Given the description of an element on the screen output the (x, y) to click on. 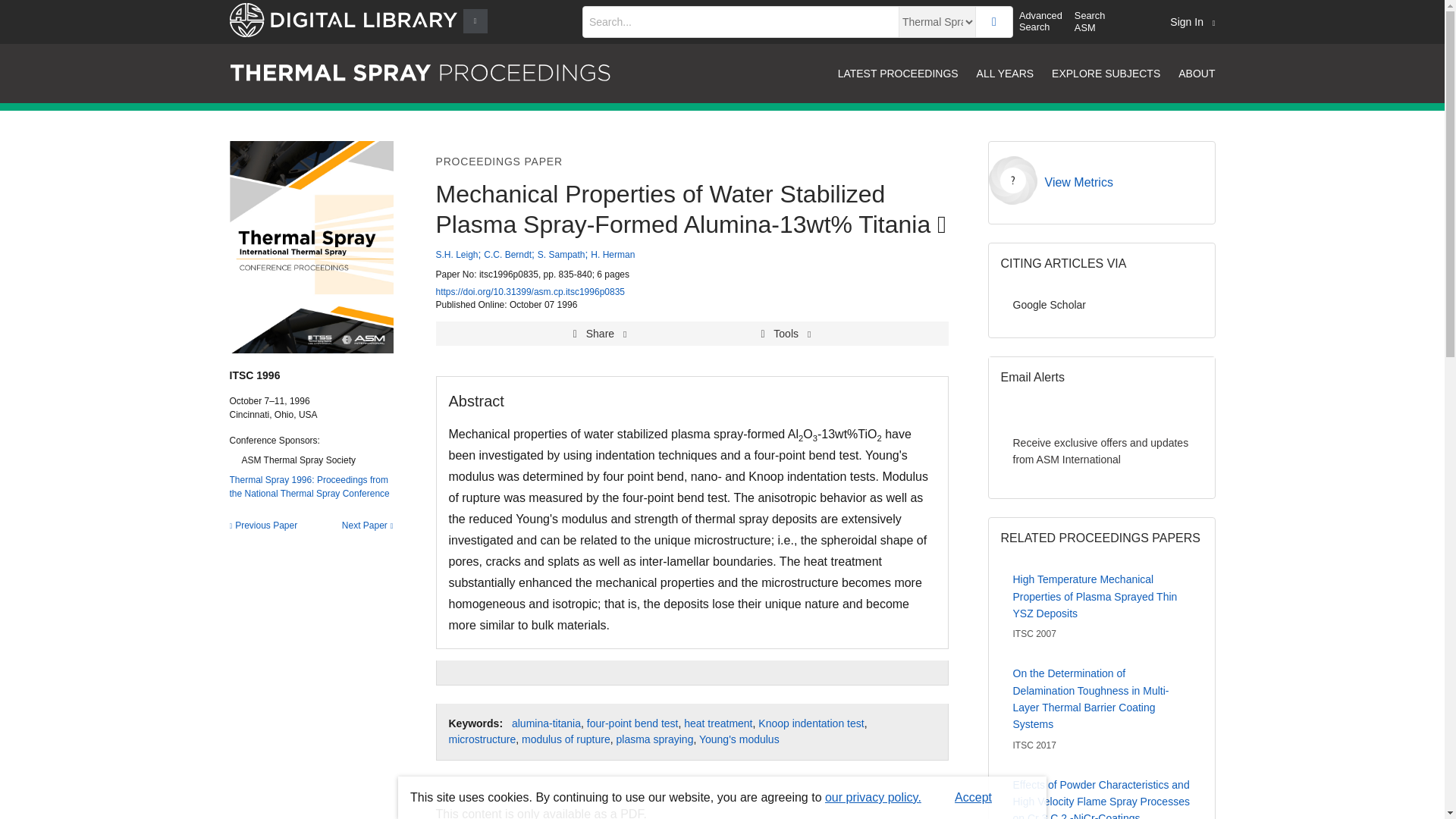
search input (740, 21)
